Given the description of an element on the screen output the (x, y) to click on. 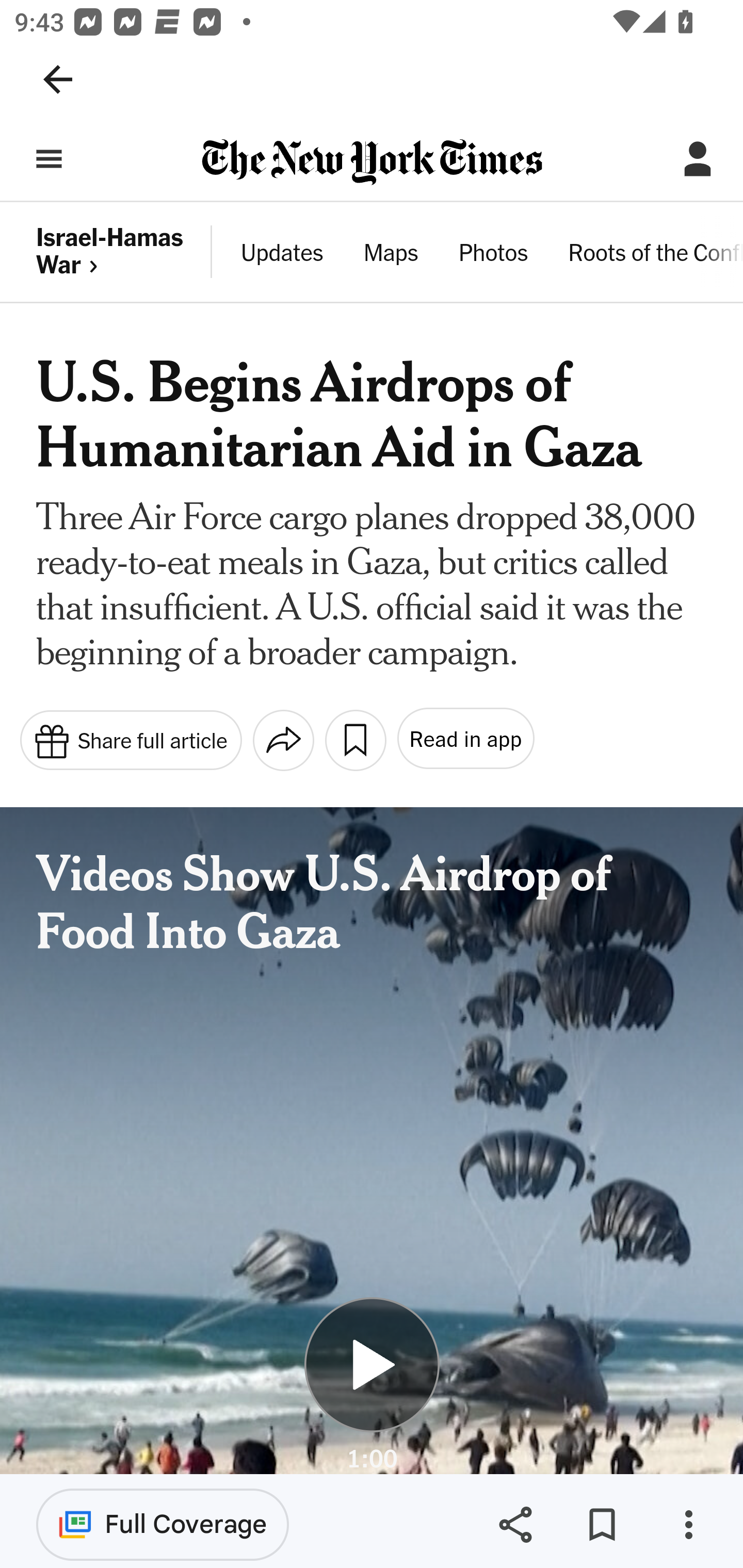
Navigate up (57, 79)
SEARCH & SECTION NAVIGATION (48, 159)
Log in (697, 159)
New York Times homepage (371, 162)
Israel-Hamas War› Israel-Hamas War › (124, 251)
Updates (282, 254)
Maps (390, 254)
Photos (492, 254)
More sharing options ... (283, 740)
Save article for reading later... (355, 740)
Read in app (464, 738)
Share full article (129, 738)
Share (514, 1524)
Save for later (601, 1524)
More options (688, 1524)
Full Coverage (162, 1524)
